Given the description of an element on the screen output the (x, y) to click on. 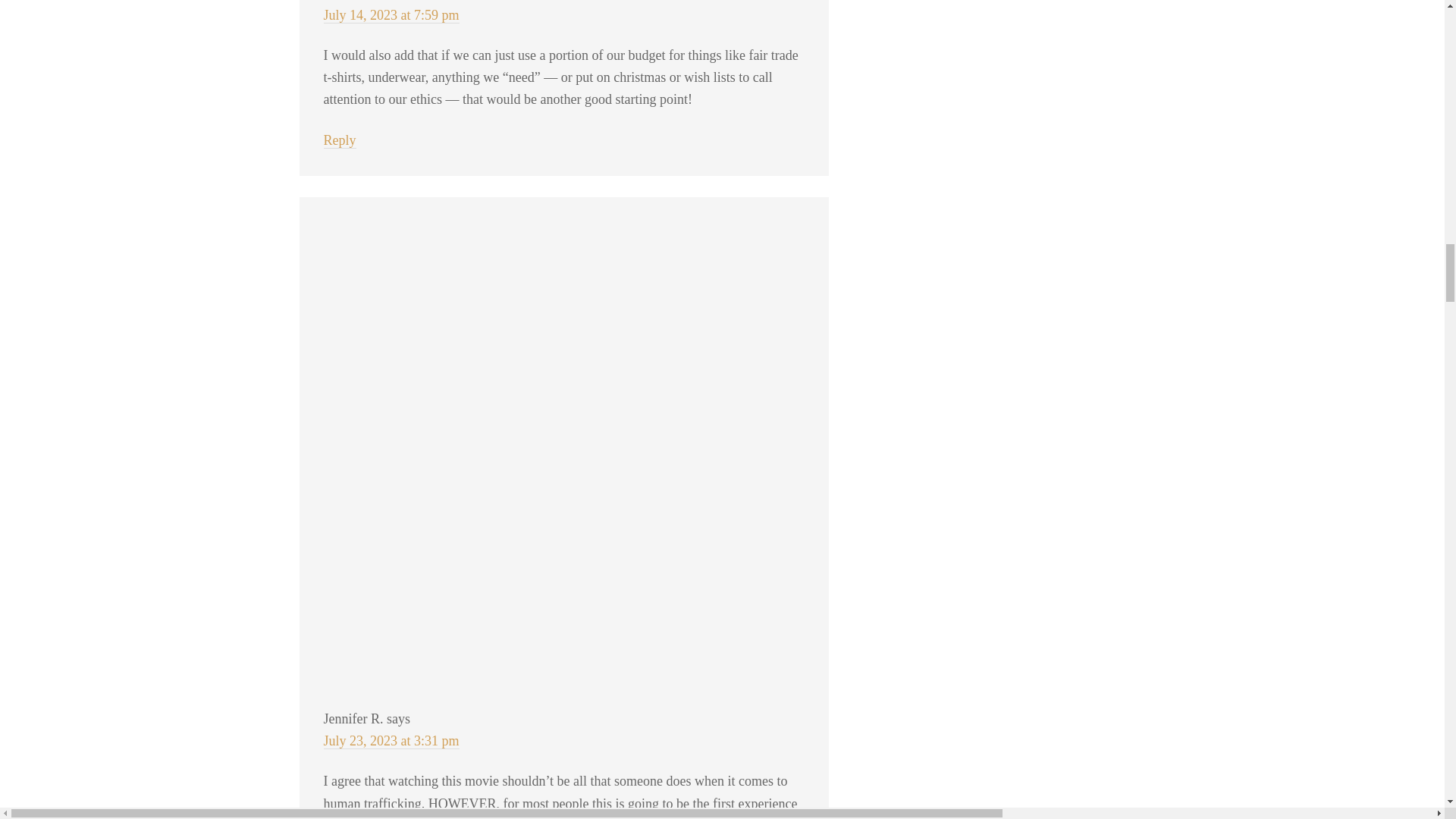
Reply (339, 140)
July 14, 2023 at 7:59 pm (390, 15)
July 23, 2023 at 3:31 pm (390, 741)
